Given the description of an element on the screen output the (x, y) to click on. 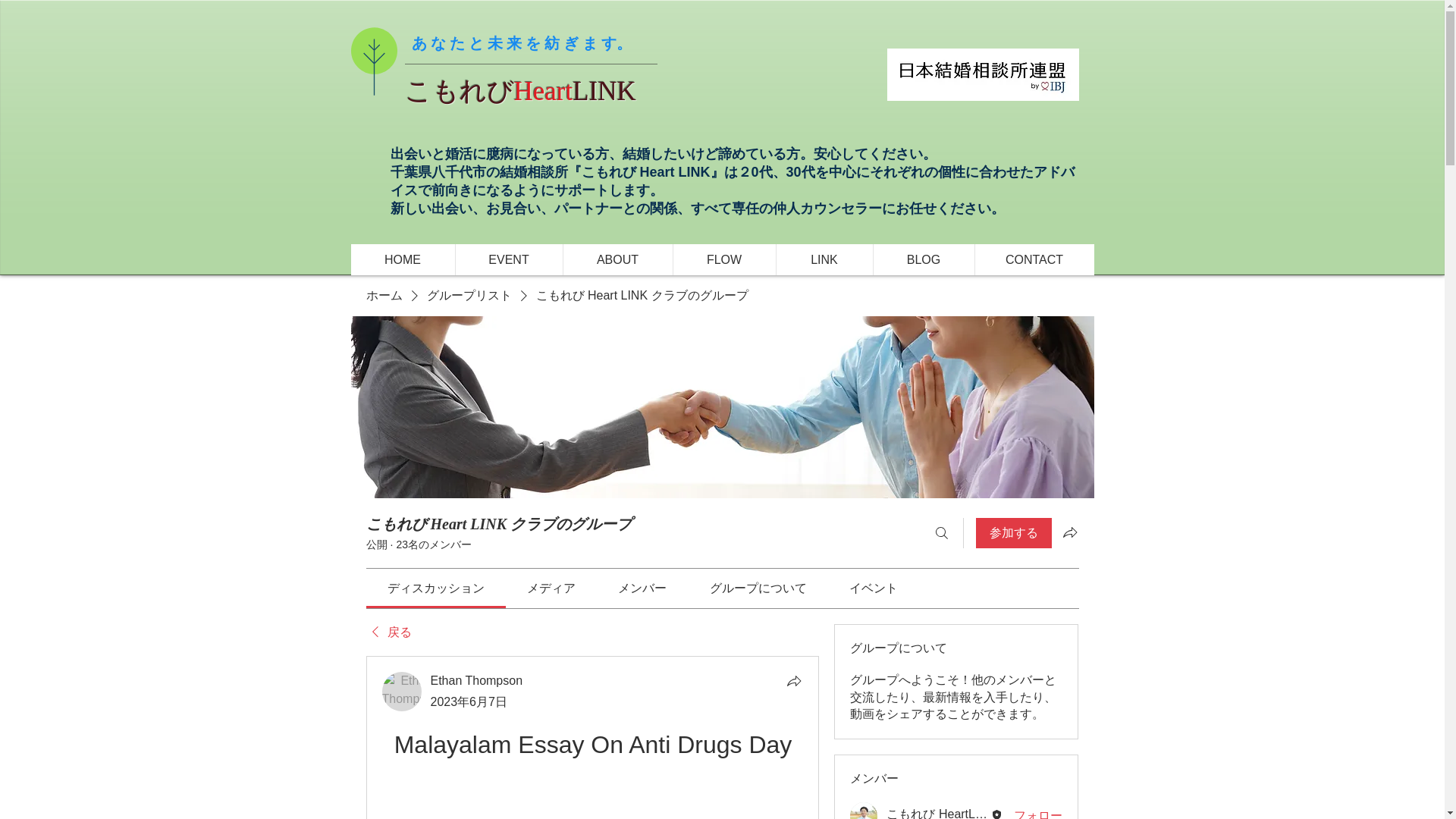
EVENT (508, 259)
Ethan Thompson (401, 691)
ABOUT (617, 259)
BLOG (923, 259)
LINK (823, 259)
HOME (402, 259)
FLOW (722, 259)
CONTACT (1033, 259)
Ethan Thompson (476, 680)
